Given the description of an element on the screen output the (x, y) to click on. 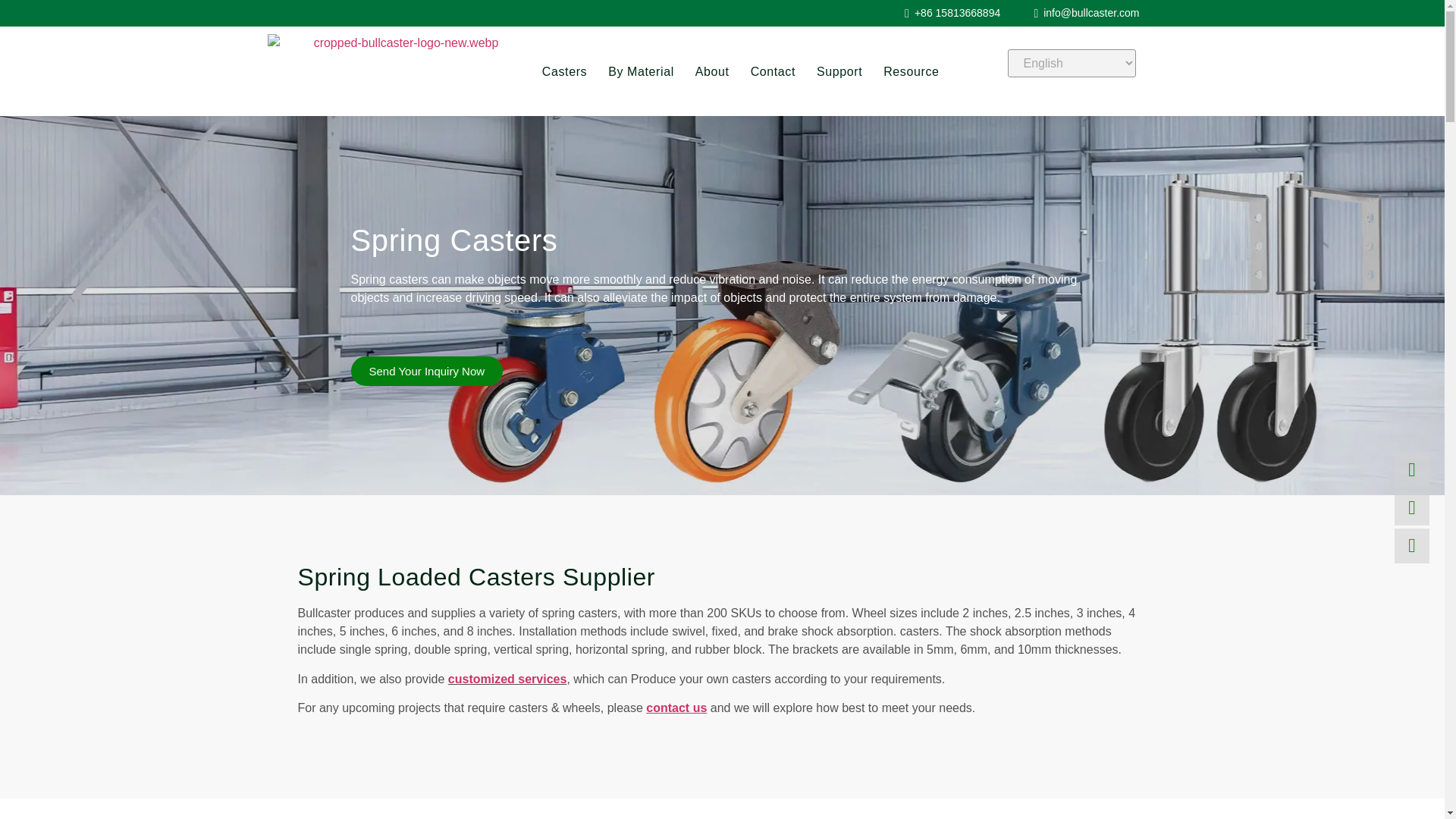
About (712, 71)
Casters (563, 71)
By Material (641, 71)
